Given the description of an element on the screen output the (x, y) to click on. 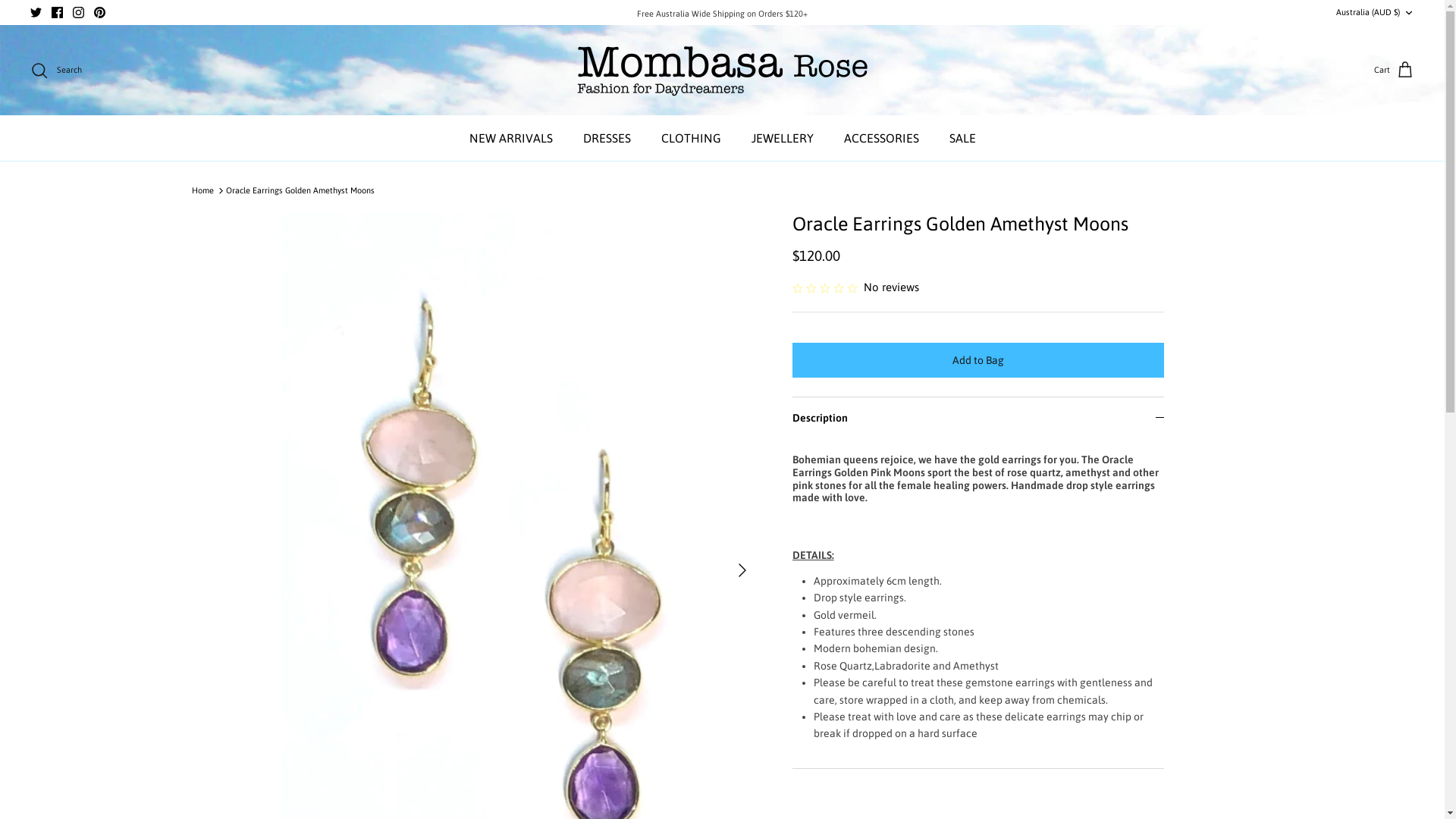
CLOTHING Element type: text (690, 137)
Australia (AUD $)
Down Element type: text (1375, 12)
Right Element type: text (741, 569)
Cart Element type: text (1394, 70)
DRESSES Element type: text (605, 137)
Oracle Earrings Golden Amethyst Moons Element type: text (299, 189)
ACCESSORIES Element type: text (880, 137)
Home Element type: text (202, 189)
SALE Element type: text (962, 137)
Twitter Element type: text (35, 12)
Mombasa Rose Element type: hover (722, 70)
Search Element type: text (55, 70)
Add to Bag Element type: text (977, 359)
JEWELLERY Element type: text (781, 137)
Facebook Element type: text (56, 12)
NEW ARRIVALS Element type: text (510, 137)
Pinterest Element type: text (99, 12)
Instagram Element type: text (78, 12)
